Given the description of an element on the screen output the (x, y) to click on. 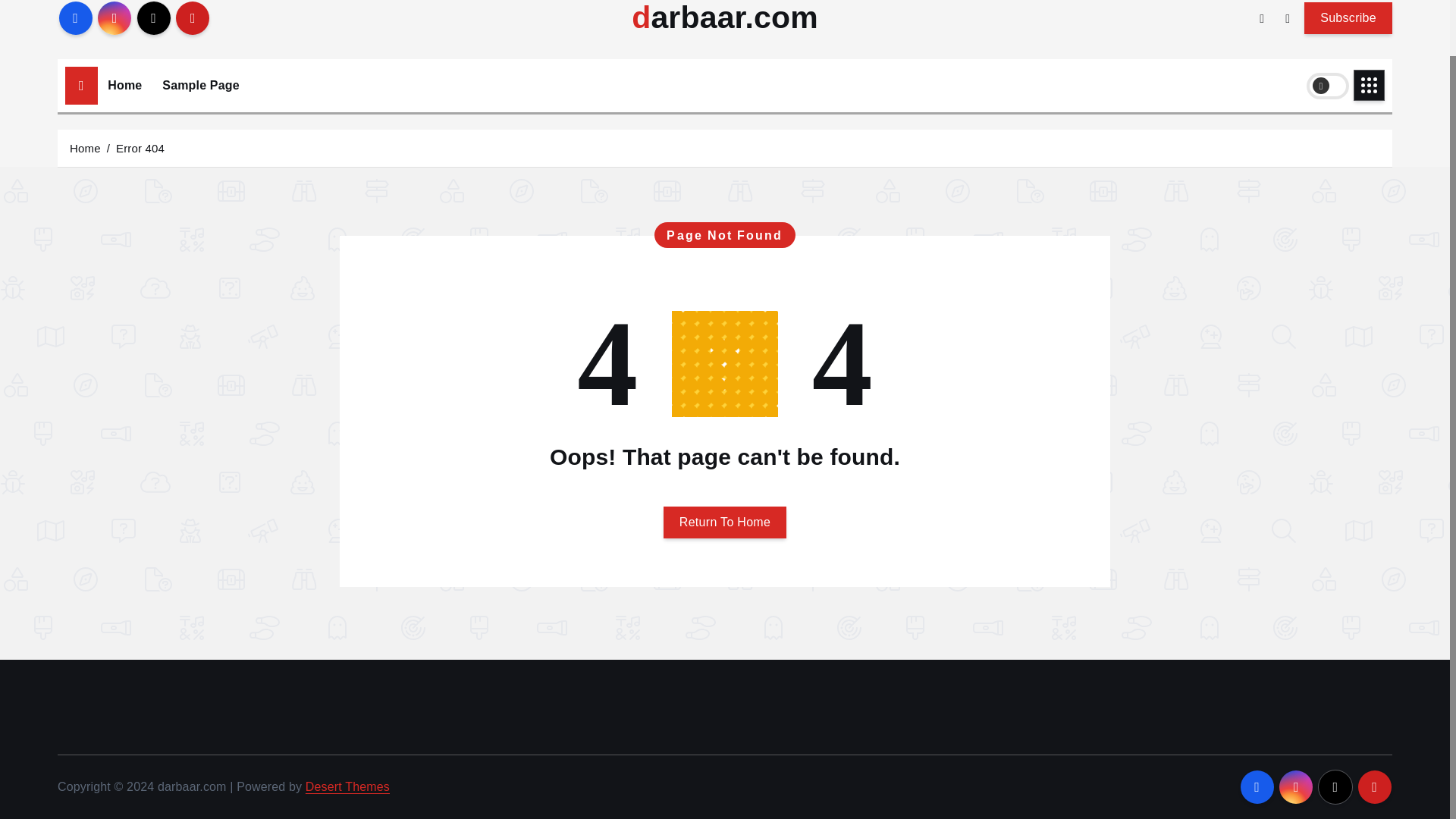
Return To Home (724, 522)
Error 404 (140, 146)
Home (84, 146)
darbaar.com (724, 17)
Home (124, 85)
Sample Page (200, 85)
Desert Themes (347, 786)
Subscribe (1347, 17)
Home (124, 85)
